Given the description of an element on the screen output the (x, y) to click on. 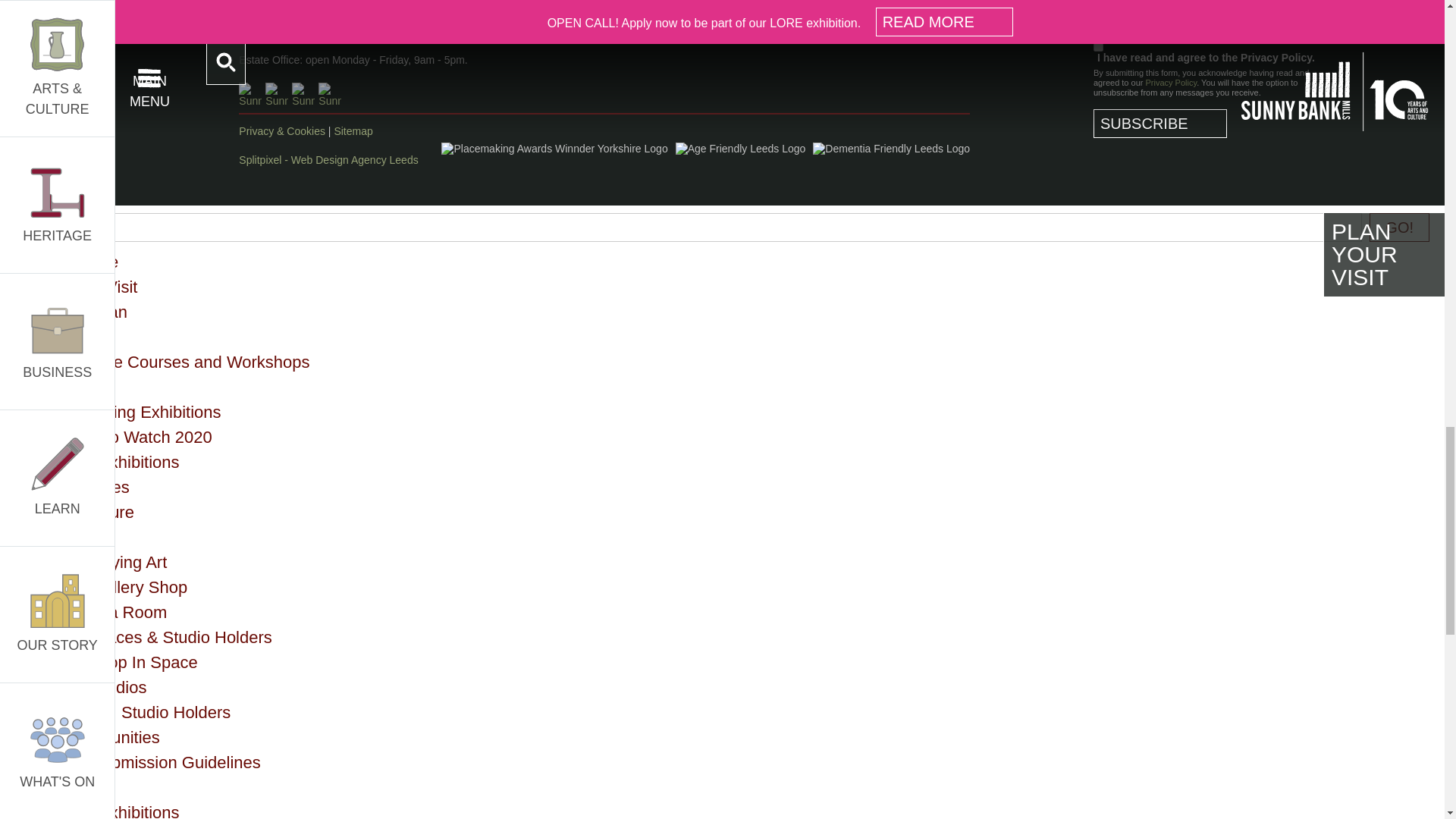
Home Page (73, 261)
Plan Your Visit (83, 286)
1 (1098, 46)
Subscribe (1160, 123)
Site Plan (94, 311)
Go! (1399, 226)
Privacy Policy (1170, 81)
Go! (1399, 226)
Sitemap (352, 131)
Splitpixel - Web Design Agency Leeds (327, 159)
